Given the description of an element on the screen output the (x, y) to click on. 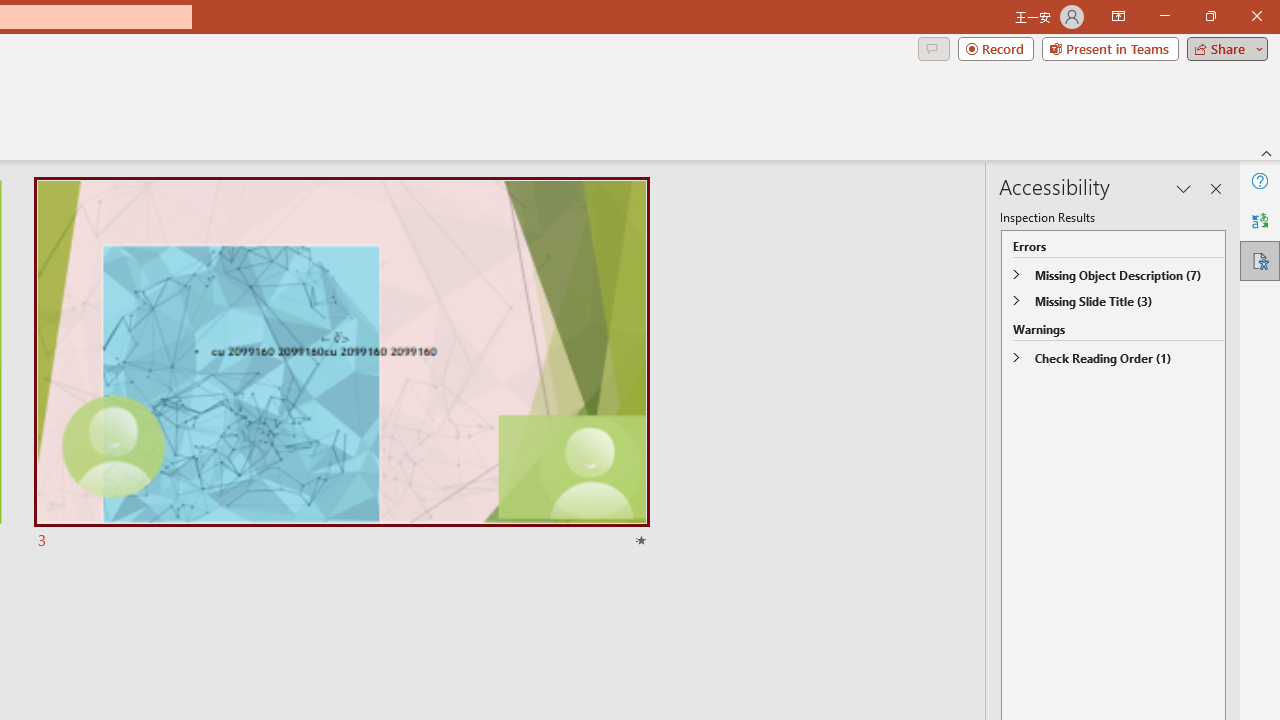
Translator (1260, 220)
